Given the description of an element on the screen output the (x, y) to click on. 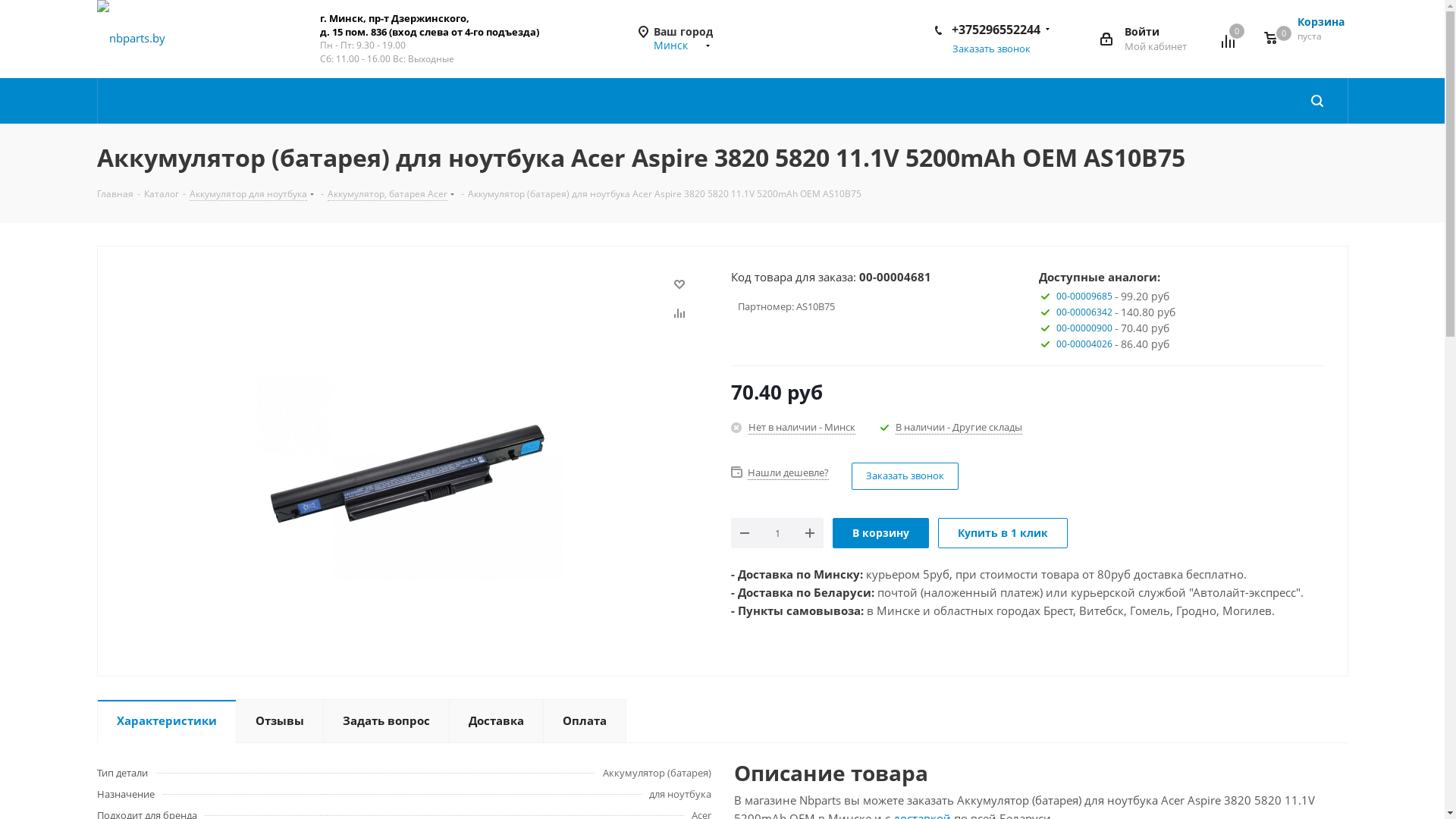
00-00000900 Element type: text (1084, 327)
+375296552244 Element type: text (994, 29)
nbparts.by Element type: hover (131, 38)
00-00006342 Element type: text (1084, 311)
00-00009685 Element type: text (1084, 295)
00-00004026 Element type: text (1084, 343)
